Given the description of an element on the screen output the (x, y) to click on. 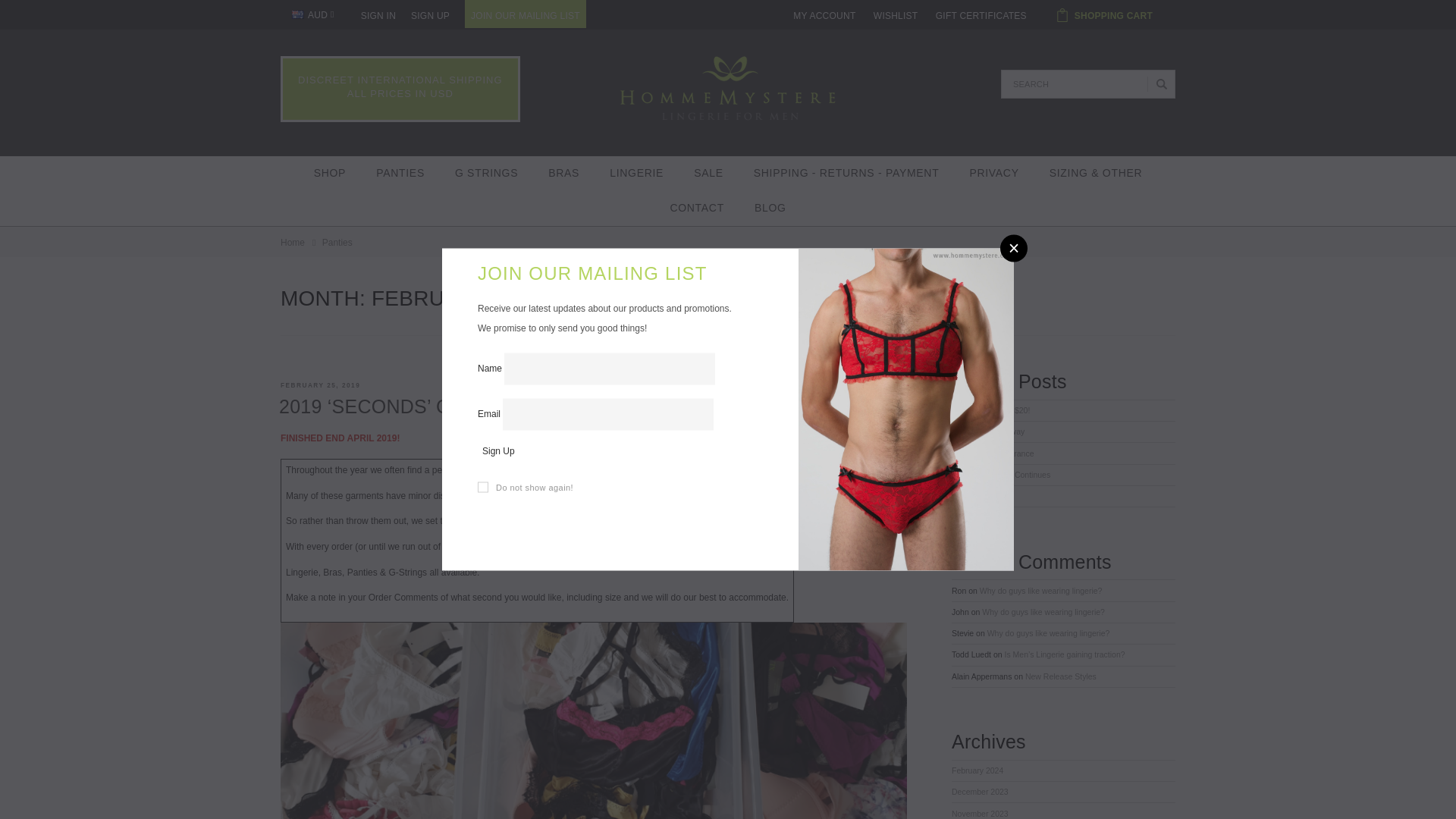
G STRINGS (485, 173)
Homme-Mystere- Sandbox (727, 88)
SHIPPING - RETURNS - PAYMENT (846, 173)
PRIVACY (993, 173)
BRAS (563, 173)
WISHLIST (895, 16)
SHOPPING CART (1108, 12)
SALE (708, 173)
SHOP (329, 173)
GIFT CERTIFICATES (981, 16)
